Given the description of an element on the screen output the (x, y) to click on. 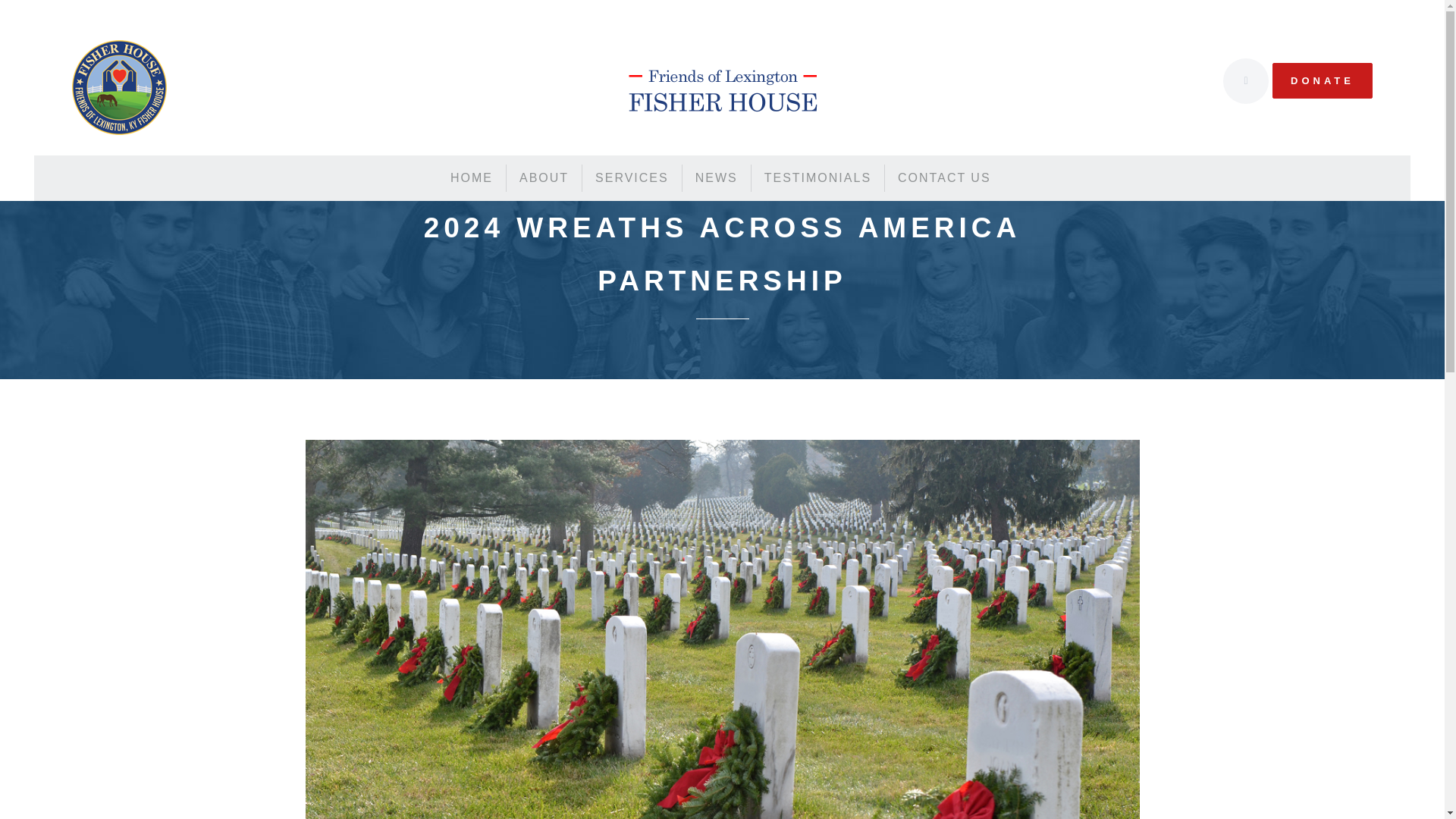
CONTACT US (944, 177)
NEWS (716, 177)
ABOUT (544, 177)
TESTIMONIALS (818, 177)
SERVICES (632, 177)
DONATE (1322, 80)
HOME (472, 177)
